Given the description of an element on the screen output the (x, y) to click on. 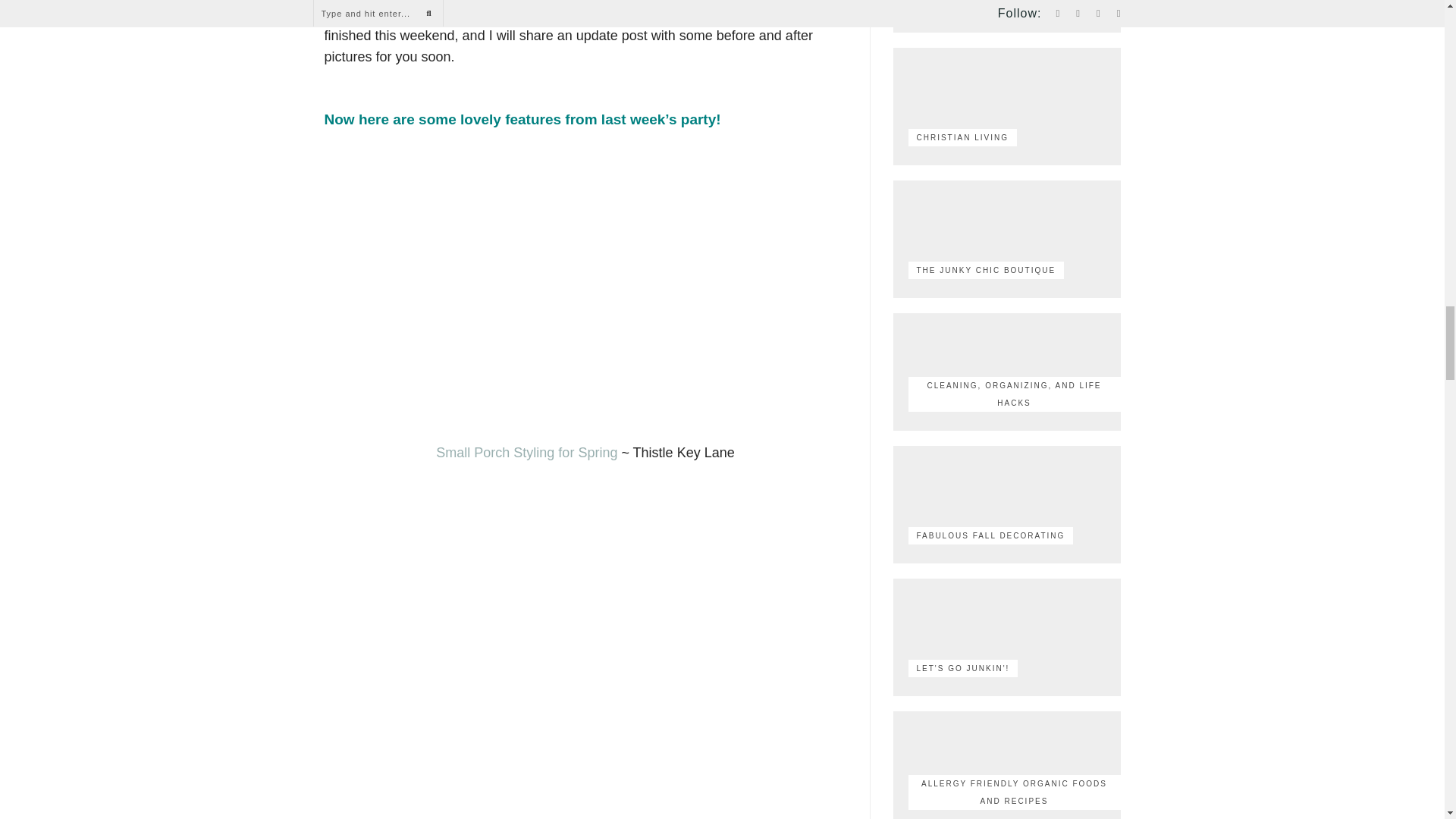
Small Porch Styling for Spring (526, 452)
